Given the description of an element on the screen output the (x, y) to click on. 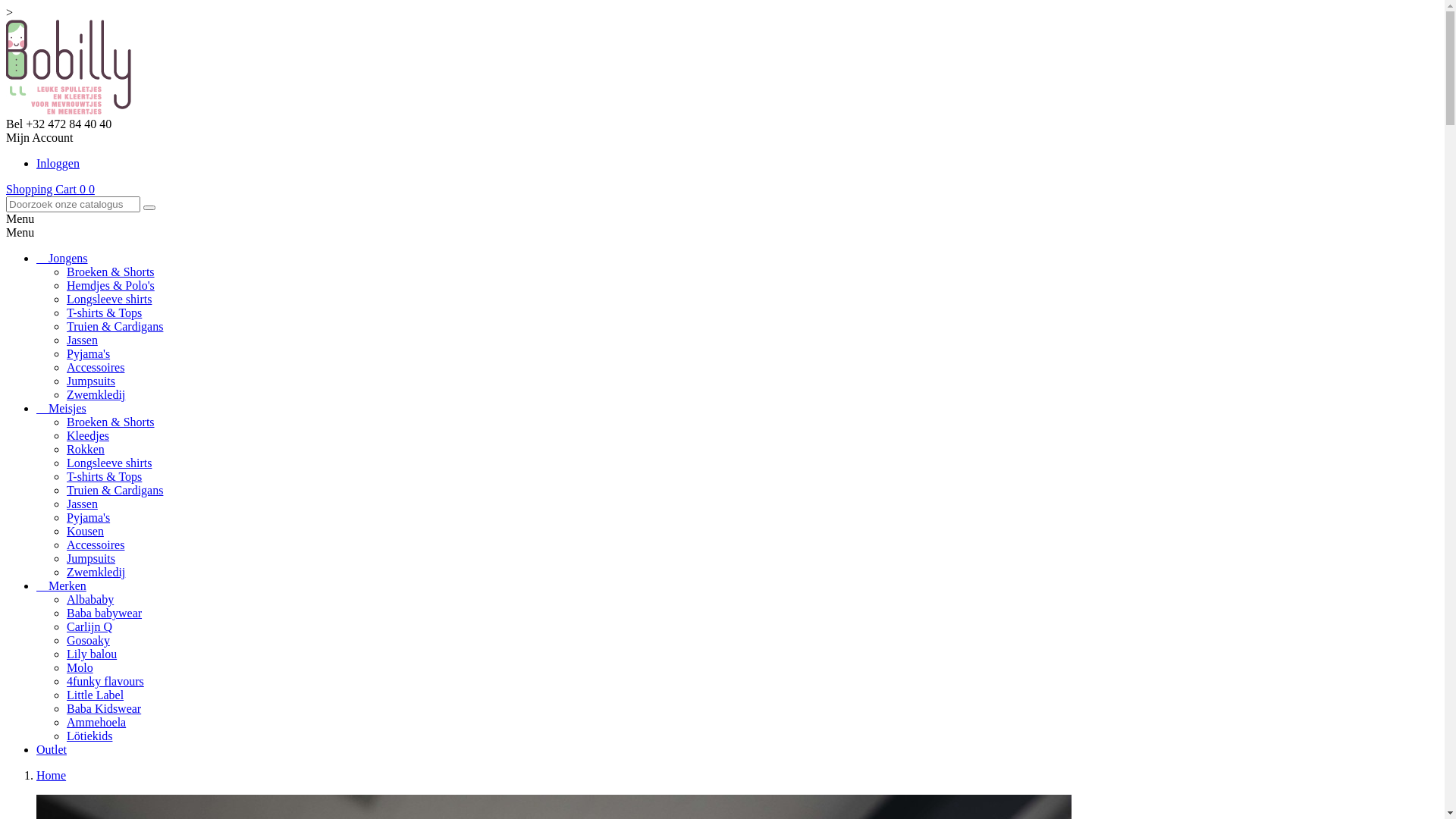
Zwemkledij Element type: text (95, 394)
Truien & Cardigans Element type: text (114, 489)
Jumpsuits Element type: text (90, 558)
Albababy Element type: text (89, 599)
Carlijn Q Element type: text (89, 626)
Lily balou Element type: text (91, 653)
Longsleeve shirts Element type: text (108, 462)
Baba Kidswear Element type: text (103, 708)
Rokken Element type: text (85, 448)
Jassen Element type: text (81, 339)
4funky flavours Element type: text (105, 680)
Home Element type: text (50, 774)
Jumpsuits Element type: text (90, 380)
    Jongens Element type: text (61, 257)
T-shirts & Tops Element type: text (103, 476)
Zwemkledij Element type: text (95, 571)
Broeken & Shorts Element type: text (110, 421)
Broeken & Shorts Element type: text (110, 271)
Molo Element type: text (79, 667)
Little Label Element type: text (94, 694)
    Meisjes Element type: text (61, 407)
Shopping Cart 0 0 Element type: text (50, 188)
Kousen Element type: text (84, 530)
Baba babywear Element type: text (103, 612)
    Merken Element type: text (61, 585)
Inloggen Element type: text (57, 162)
Jassen Element type: text (81, 503)
T-shirts & Tops Element type: text (103, 312)
Pyjama's Element type: text (87, 353)
Outlet Element type: text (51, 749)
Pyjama's Element type: text (87, 517)
Accessoires Element type: text (95, 366)
Kleedjes Element type: text (87, 435)
Hemdjes & Polo's Element type: text (110, 285)
Gosoaky Element type: text (87, 639)
Accessoires Element type: text (95, 544)
Longsleeve shirts Element type: text (108, 298)
Ammehoela Element type: text (95, 721)
Truien & Cardigans Element type: text (114, 326)
